Given the description of an element on the screen output the (x, y) to click on. 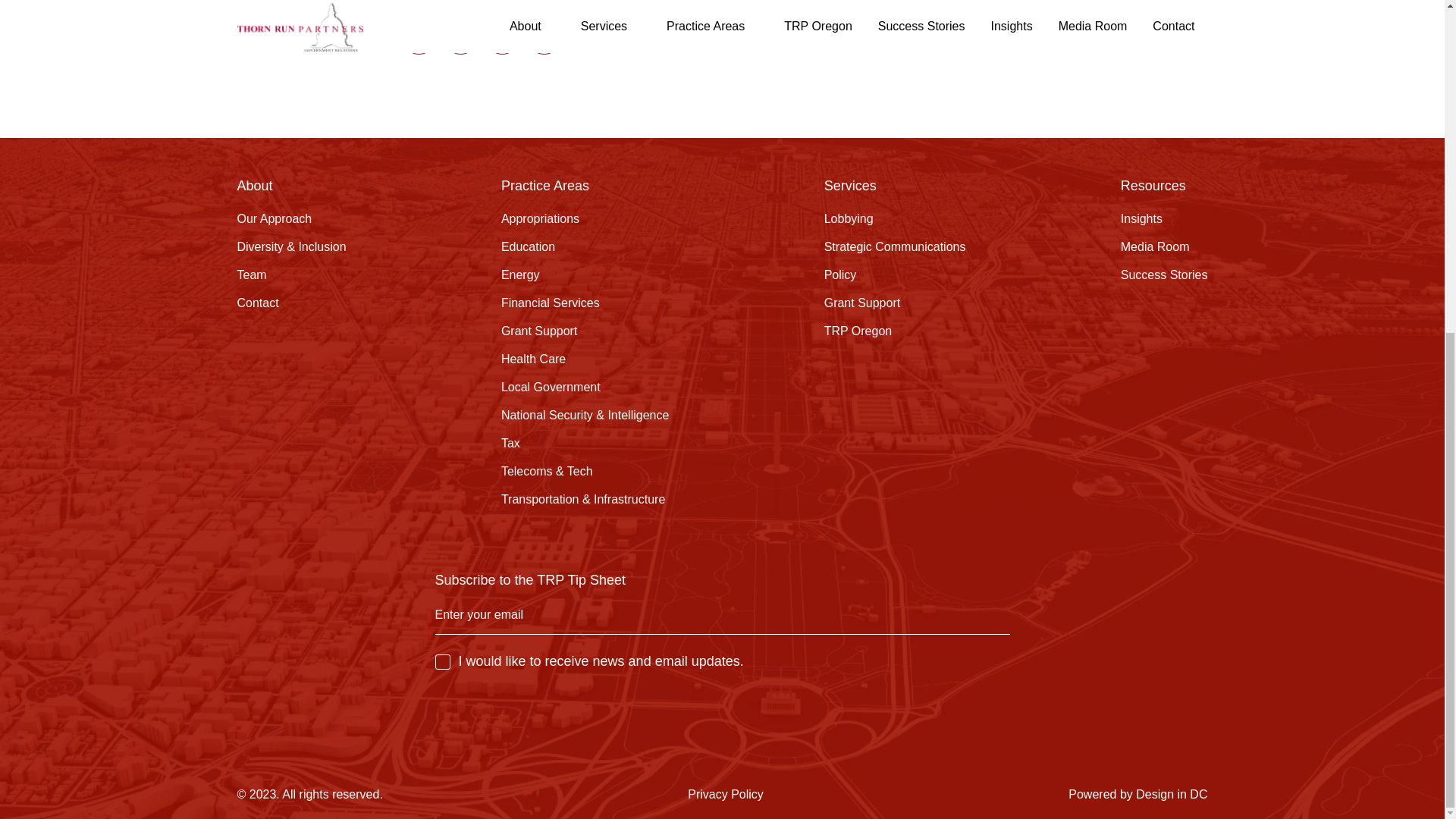
Our Approach (273, 218)
